Given the description of an element on the screen output the (x, y) to click on. 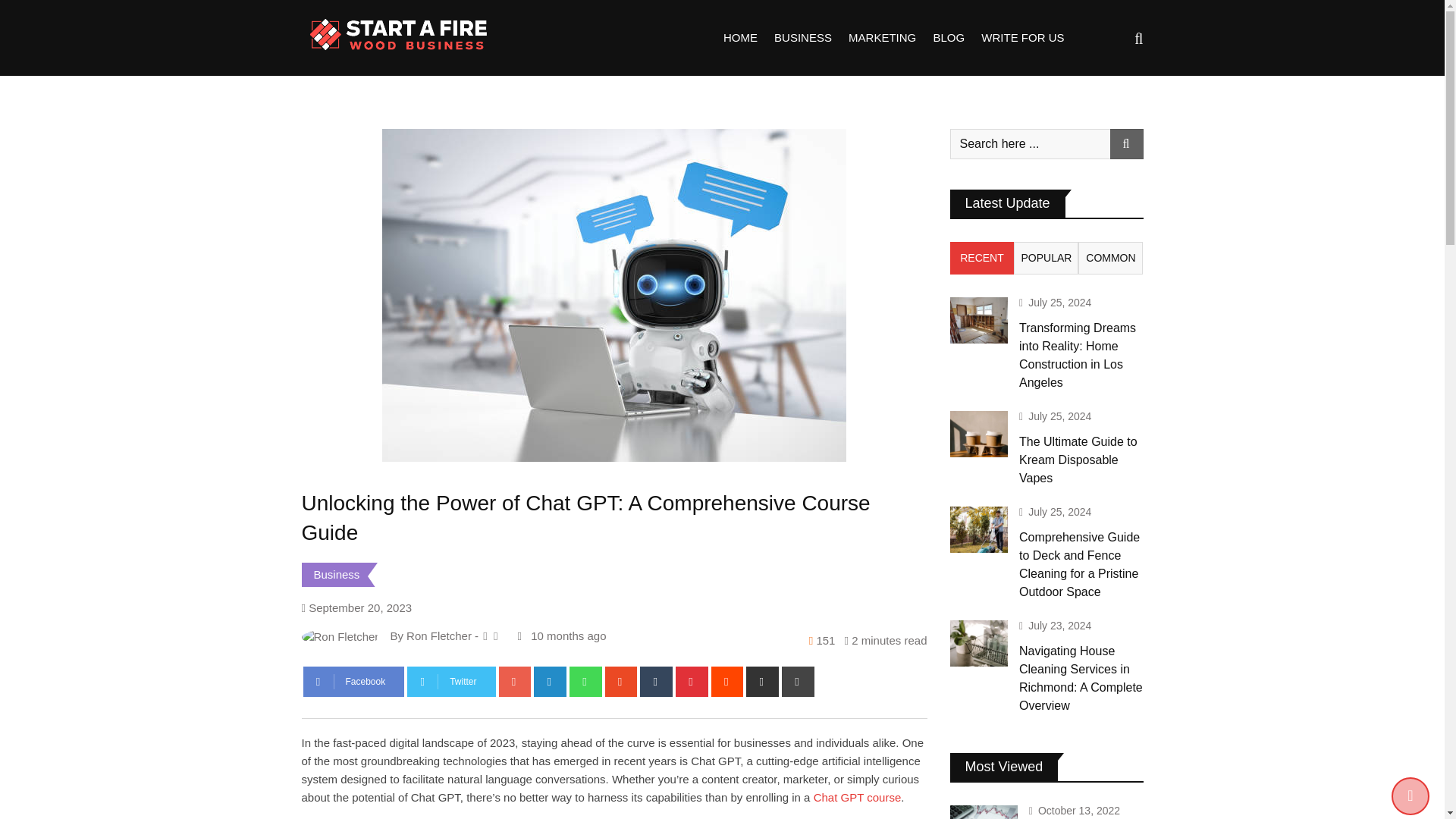
Share via Email (761, 681)
BUSINESS (802, 38)
Ron Fletcher (438, 635)
LinkedIn (550, 681)
Whatsapp (585, 681)
MARKETING (882, 38)
WRITE FOR US (1022, 38)
Pinterest (691, 681)
StumbleUpon (621, 681)
Twitter (451, 681)
Print (797, 681)
Business (336, 574)
Facebook (353, 681)
The Ultimate Guide to Kream Disposable Vapes (978, 434)
